Given the description of an element on the screen output the (x, y) to click on. 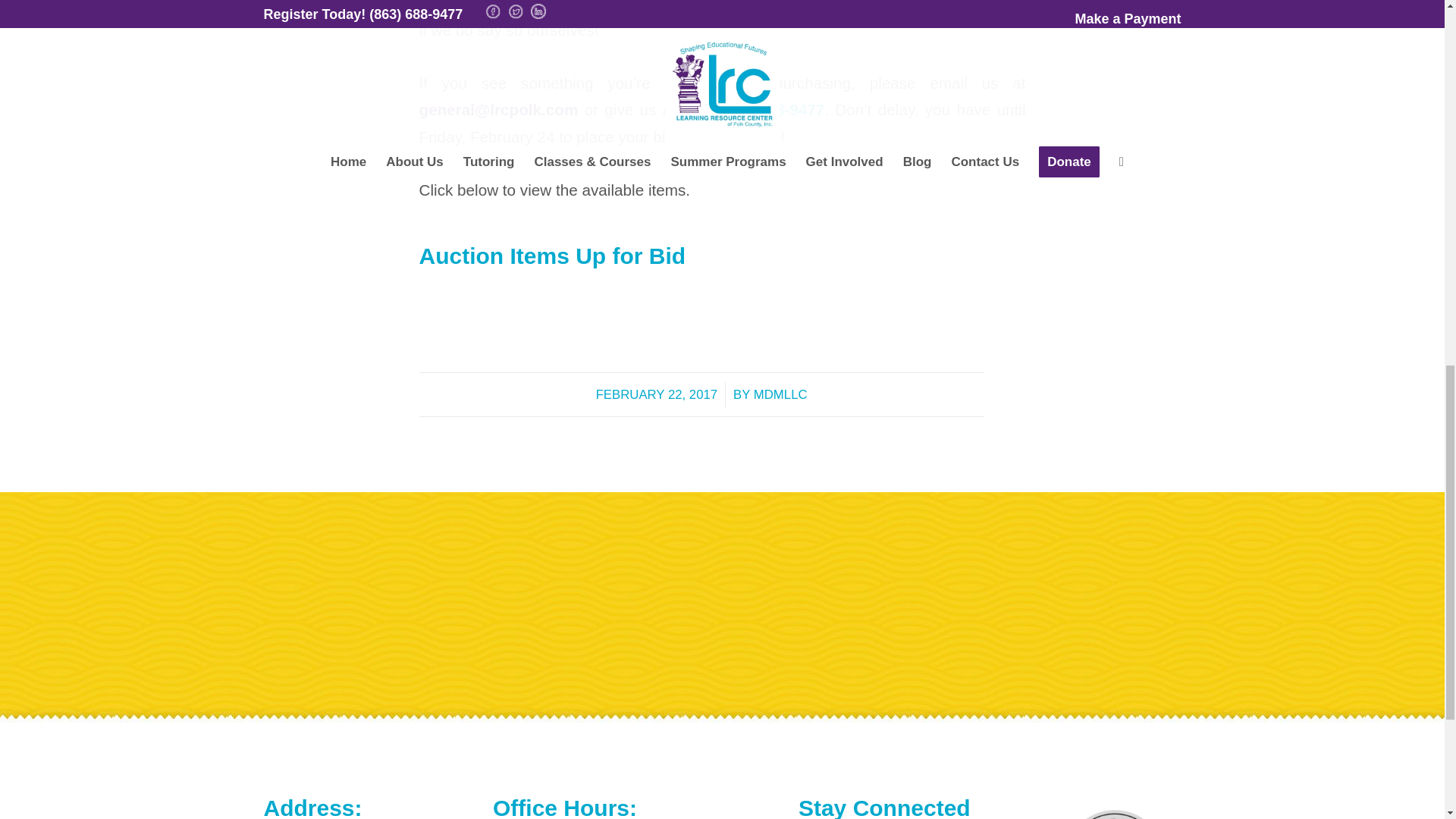
Posts by mdmllc (781, 394)
